Given the description of an element on the screen output the (x, y) to click on. 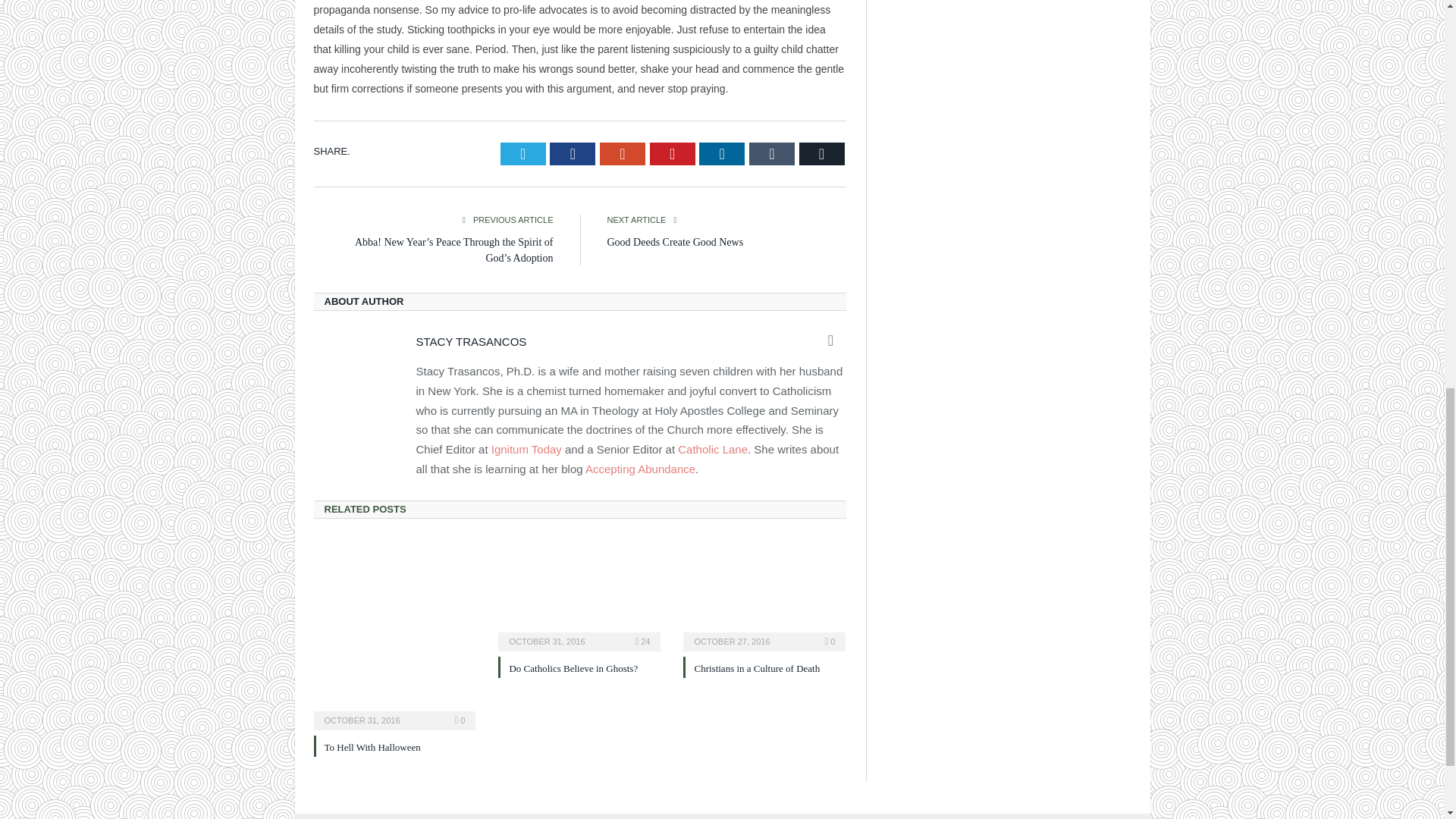
Tumblr (771, 153)
Good Deeds Create Good News (674, 242)
Pinterest (672, 153)
STACY TRASANCOS (469, 341)
Website (831, 340)
LinkedIn (721, 153)
Email (821, 153)
Twitter (523, 153)
Facebook (572, 153)
